Given the description of an element on the screen output the (x, y) to click on. 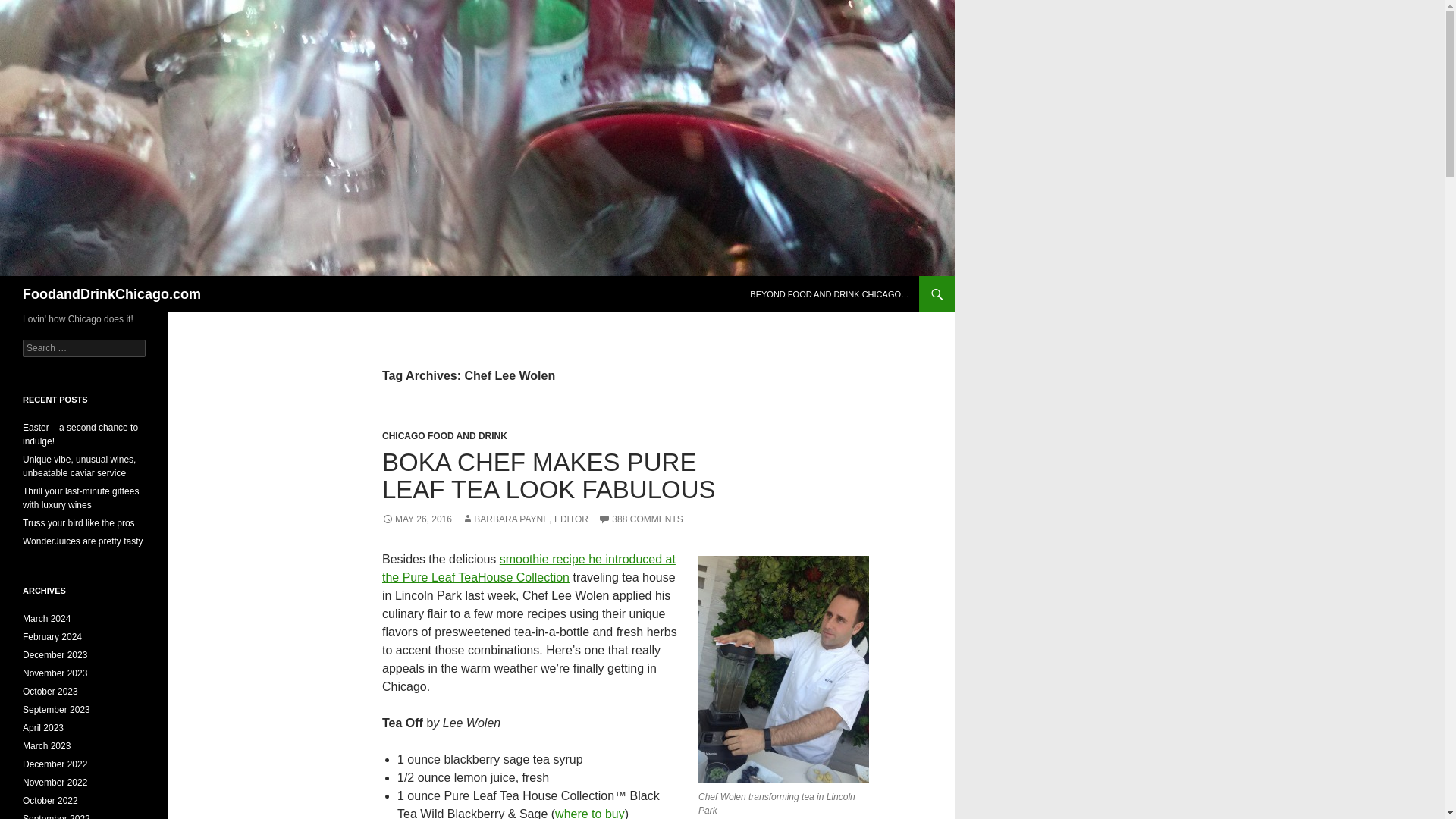
MAY 26, 2016 (416, 519)
BARBARA PAYNE, EDITOR (524, 519)
BOKA CHEF MAKES PURE LEAF TEA LOOK FABULOUS (548, 475)
CHICAGO FOOD AND DRINK (443, 435)
388 COMMENTS (640, 519)
FoodandDrinkChicago.com (111, 294)
where to buy (589, 813)
